Given the description of an element on the screen output the (x, y) to click on. 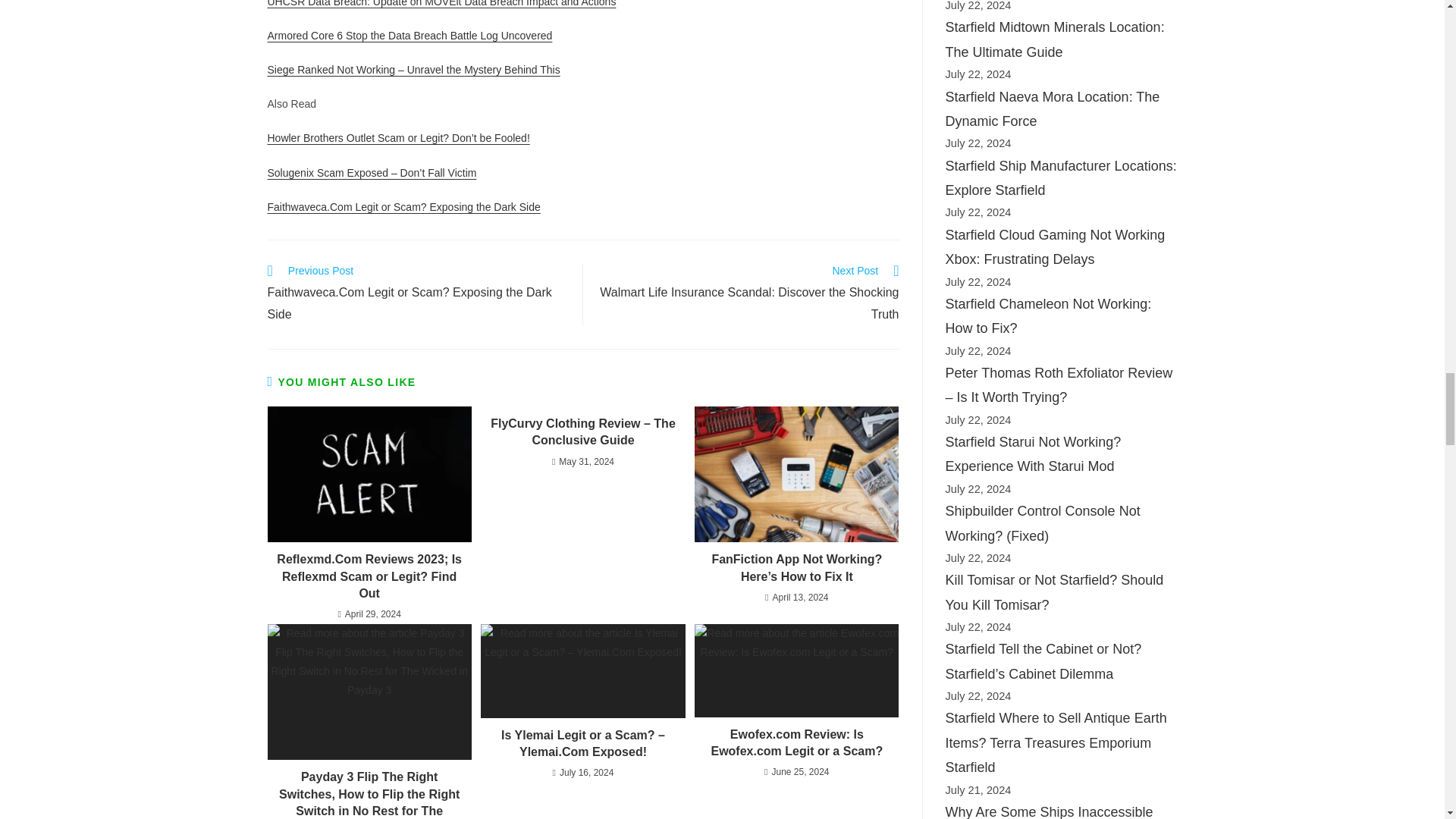
FanFiction App Not Working? Here's How to Fix It (796, 474)
Is Ylemai Legit or a Scam? - Ylemai.Com Exposed! (582, 671)
Ewofex.com Review: Is Ewofex.com Legit or a Scam? (796, 670)
